Given the description of an element on the screen output the (x, y) to click on. 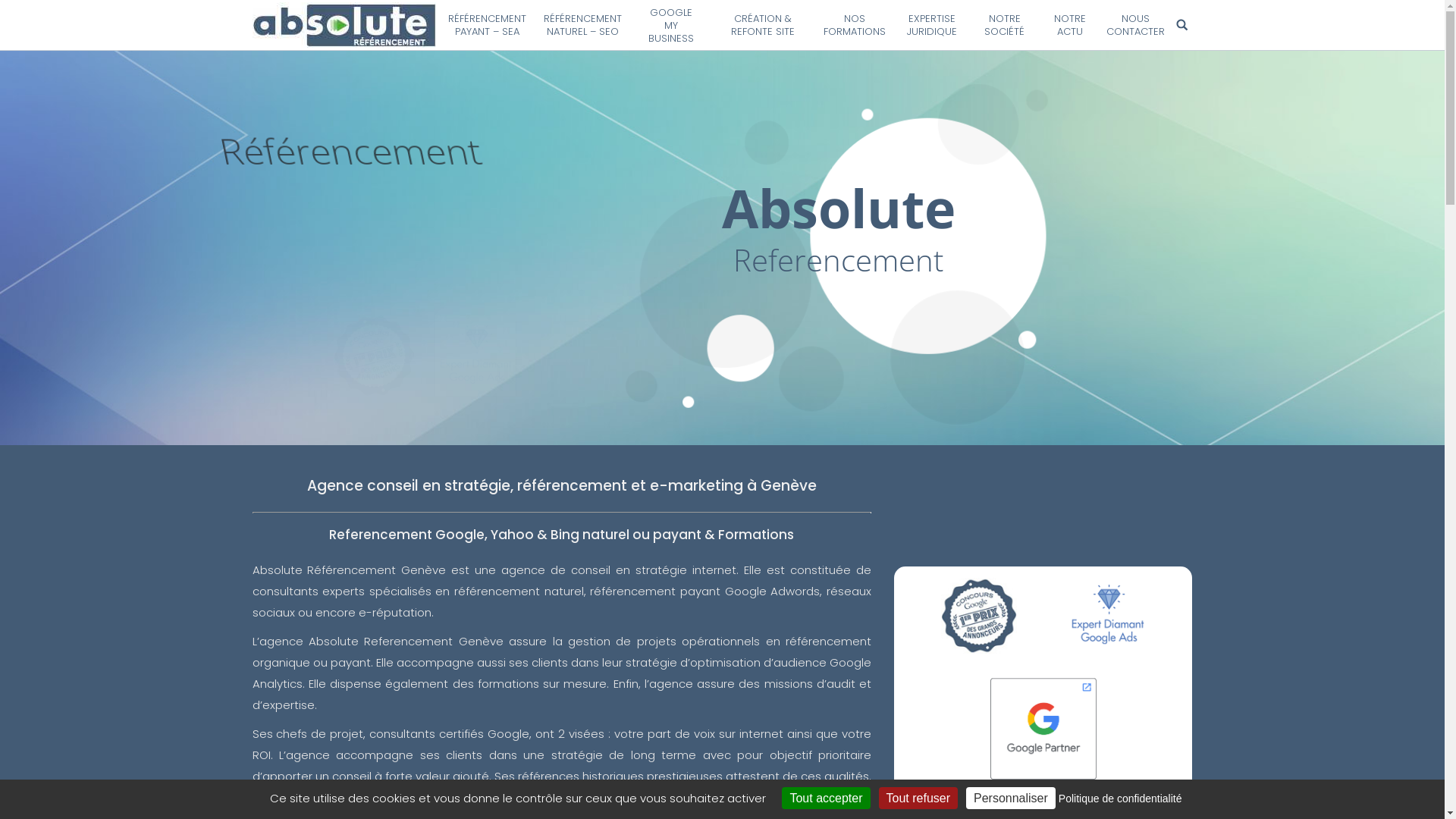
NOS FORMATIONS Element type: text (854, 25)
Personnaliser Element type: text (1010, 798)
EXPERTISE JURIDIQUE Element type: text (931, 25)
NOUS CONTACTER Element type: text (1135, 25)
Tout refuser Element type: text (917, 798)
GOOGLE MY BUSINESS Element type: text (670, 25)
NOTRE
ACTU Element type: text (1069, 25)
Tout accepter Element type: text (825, 798)
Go! Element type: text (18, 14)
Search Element type: text (1183, 24)
